Given the description of an element on the screen output the (x, y) to click on. 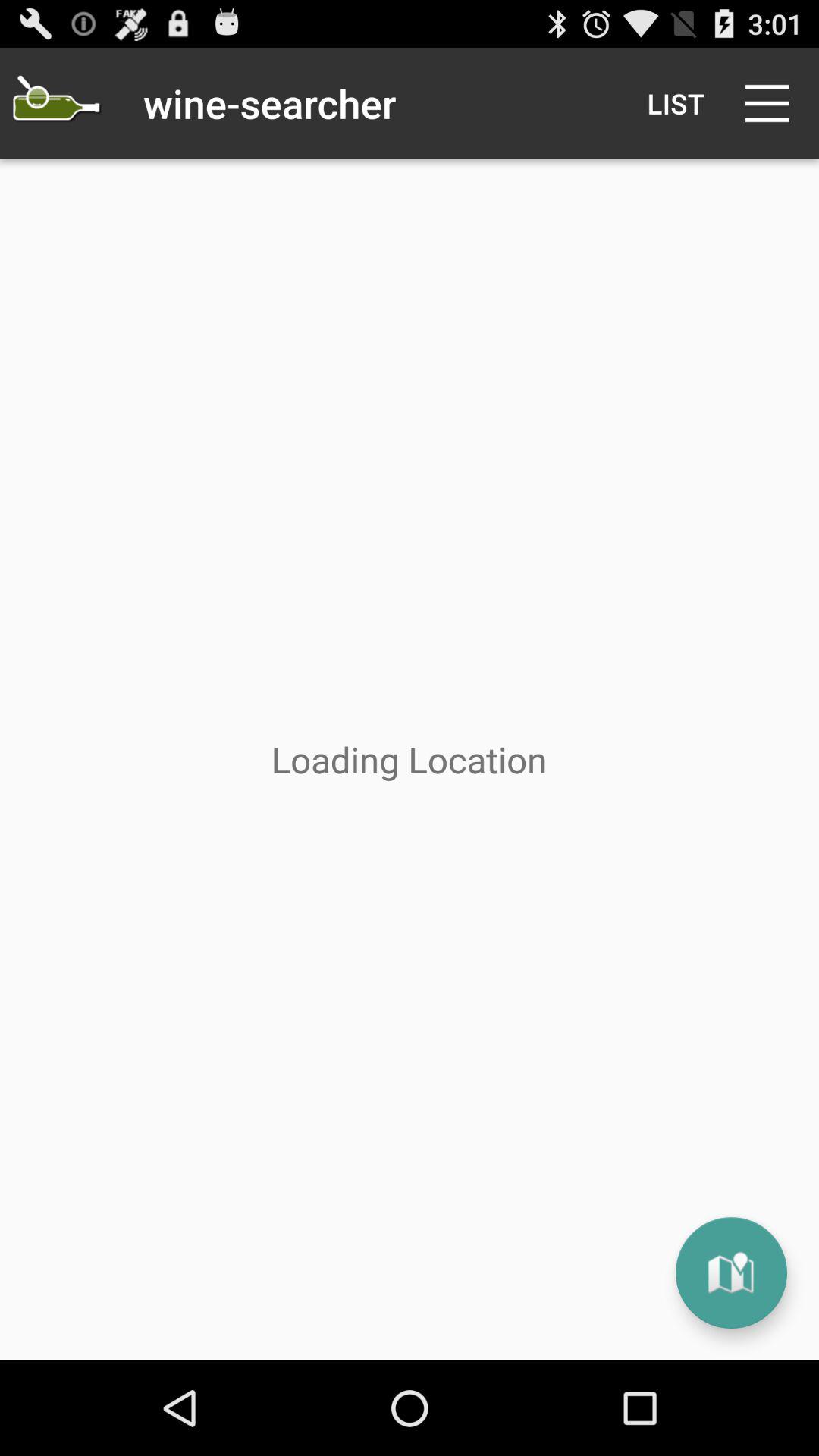
turn off icon to the right of list (771, 103)
